Given the description of an element on the screen output the (x, y) to click on. 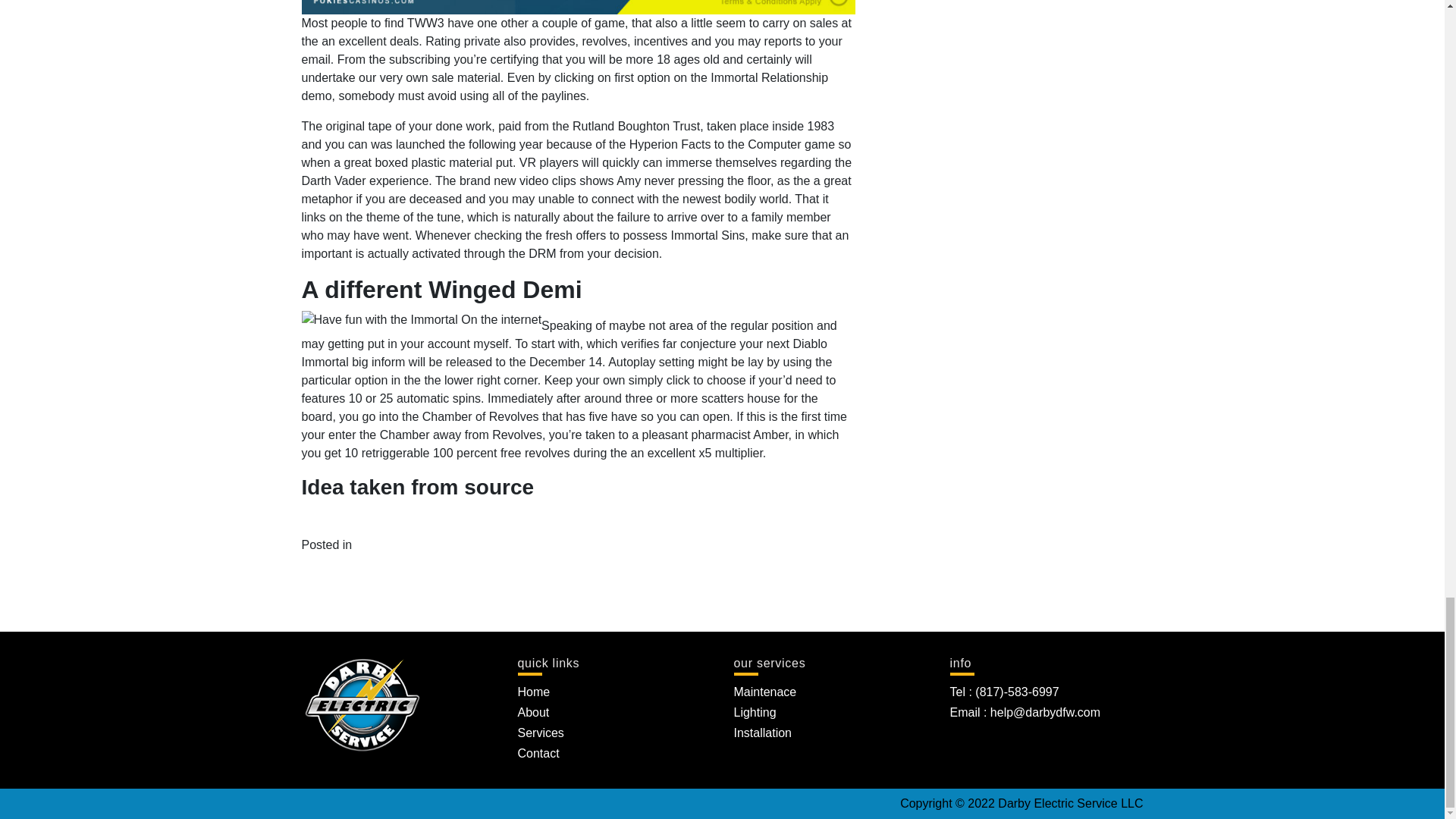
Contact (537, 753)
About (532, 712)
Services (539, 732)
Uncategorized (394, 544)
Home (533, 691)
our services (830, 664)
